Given the description of an element on the screen output the (x, y) to click on. 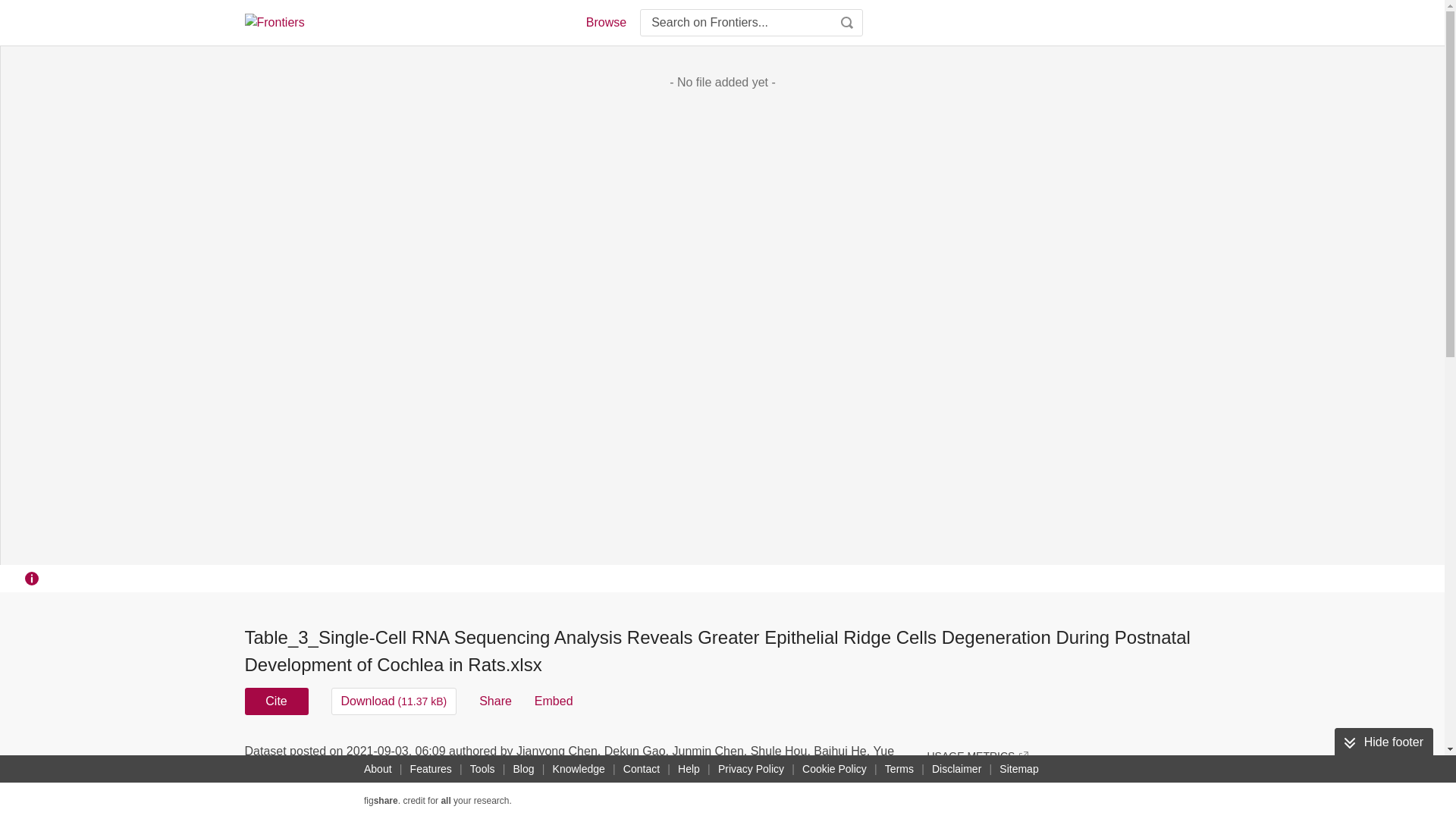
Hide footer (1383, 742)
Embed (553, 700)
Browse (605, 22)
Blog (523, 769)
USAGE METRICS (976, 755)
Cite (275, 700)
Contact (640, 769)
Share (495, 700)
Privacy Policy (751, 769)
Features (431, 769)
